Given the description of an element on the screen output the (x, y) to click on. 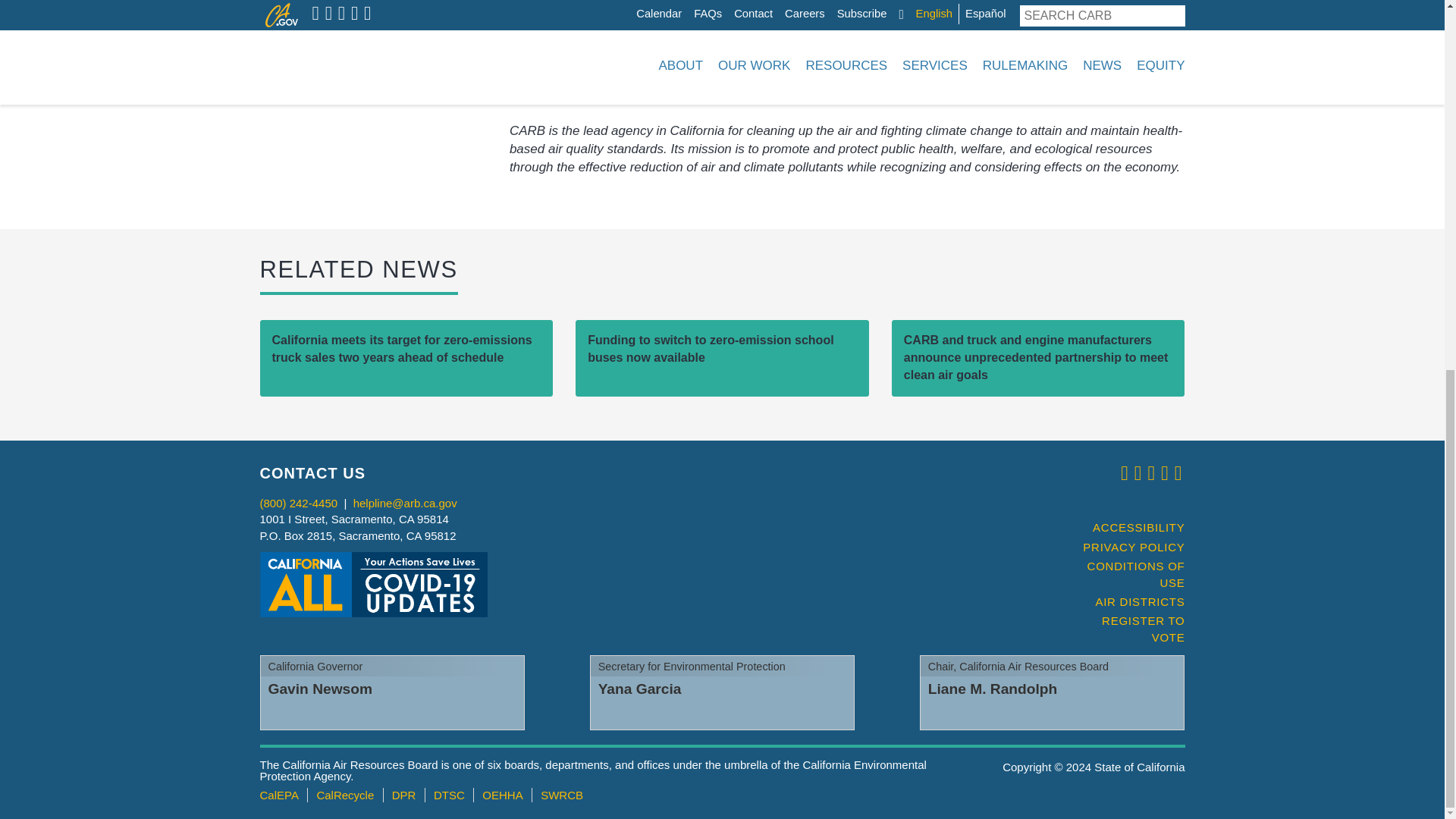
California online voter registration (1127, 628)
California Environmental Protection Agency (278, 794)
